Given the description of an element on the screen output the (x, y) to click on. 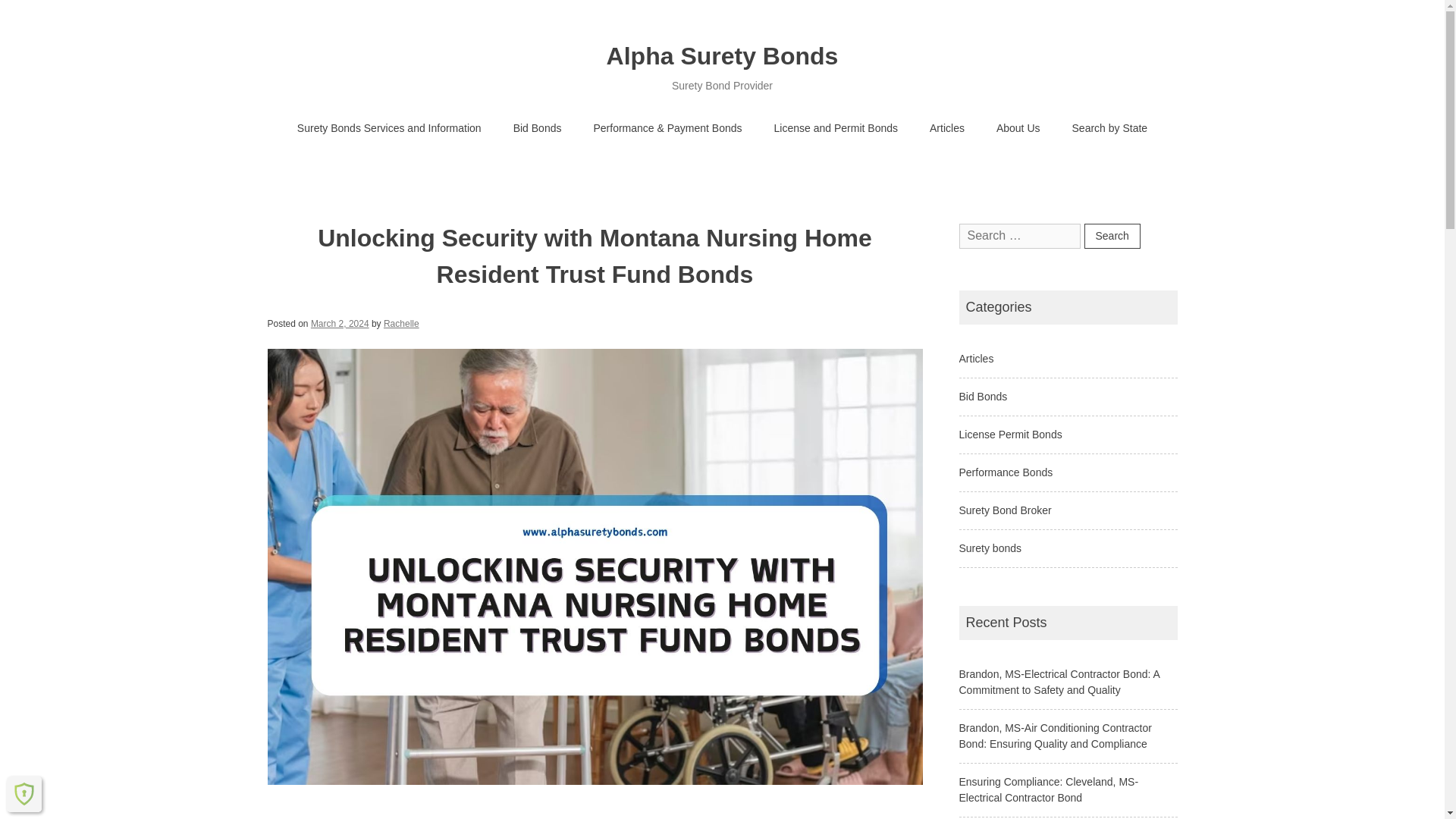
Alpha Surety Bonds (722, 55)
ShieldPRO (23, 793)
Search (1112, 235)
Surety Bonds Services and Information (389, 128)
Bid Bonds (537, 128)
Search (1112, 235)
License and Permit Bonds (836, 128)
